Given the description of an element on the screen output the (x, y) to click on. 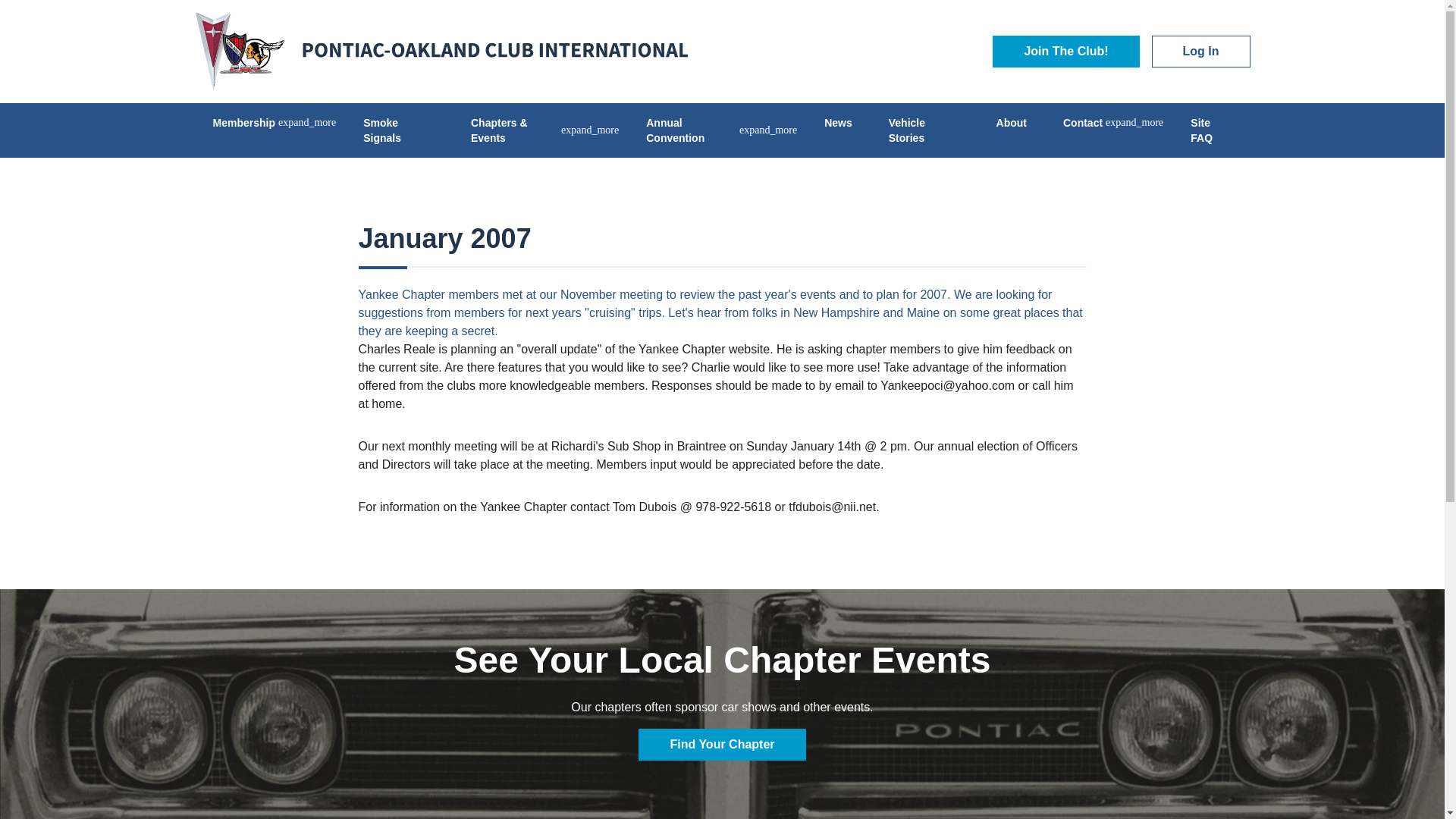
Log In (1200, 51)
Site FAQ (1210, 130)
Vehicle Stories (924, 130)
Join The Club! (1065, 51)
Smoke Signals (398, 130)
News (838, 122)
About (1011, 122)
